Given the description of an element on the screen output the (x, y) to click on. 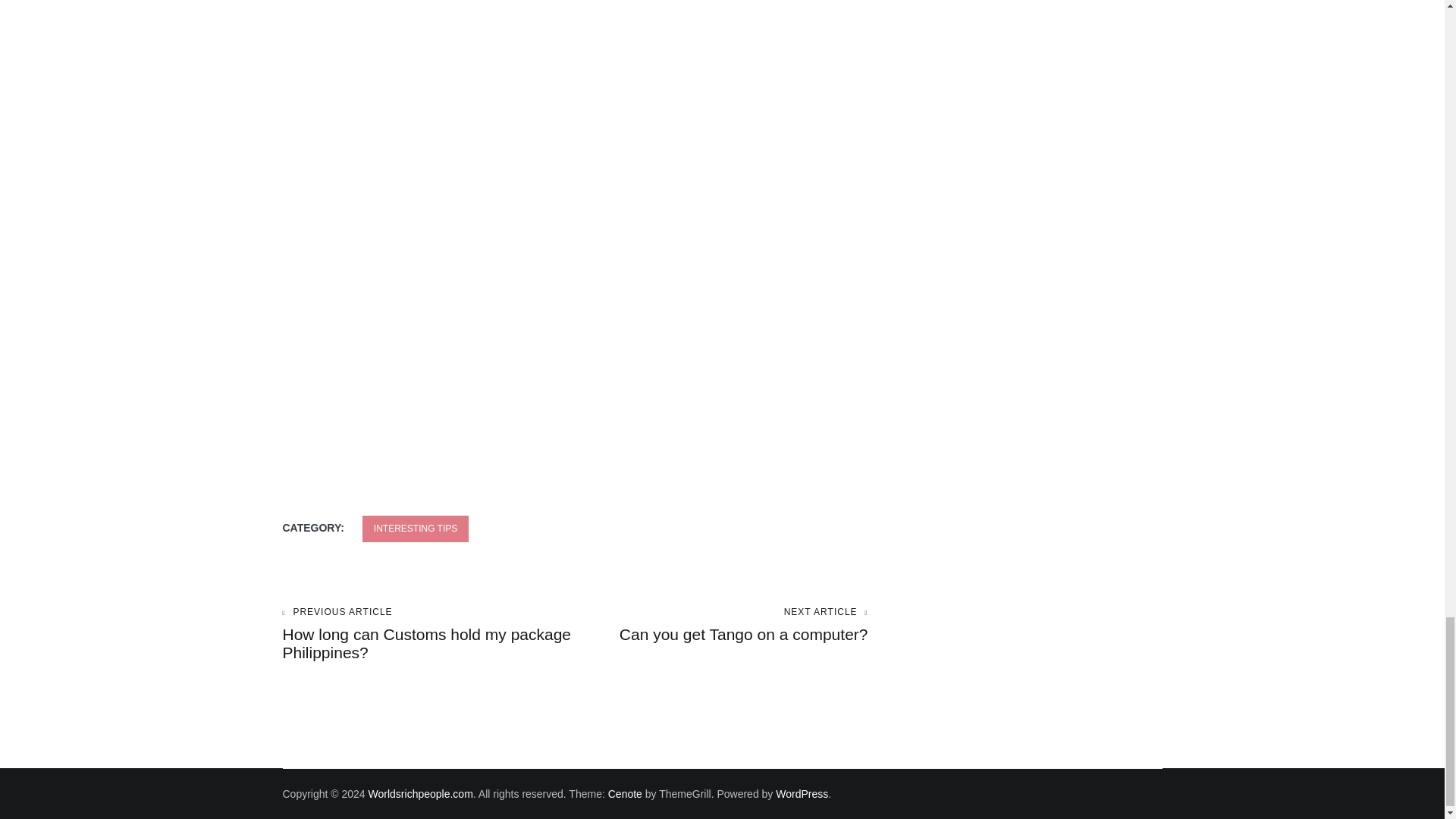
INTERESTING TIPS (415, 528)
Worldsrichpeople.com (721, 624)
